Given the description of an element on the screen output the (x, y) to click on. 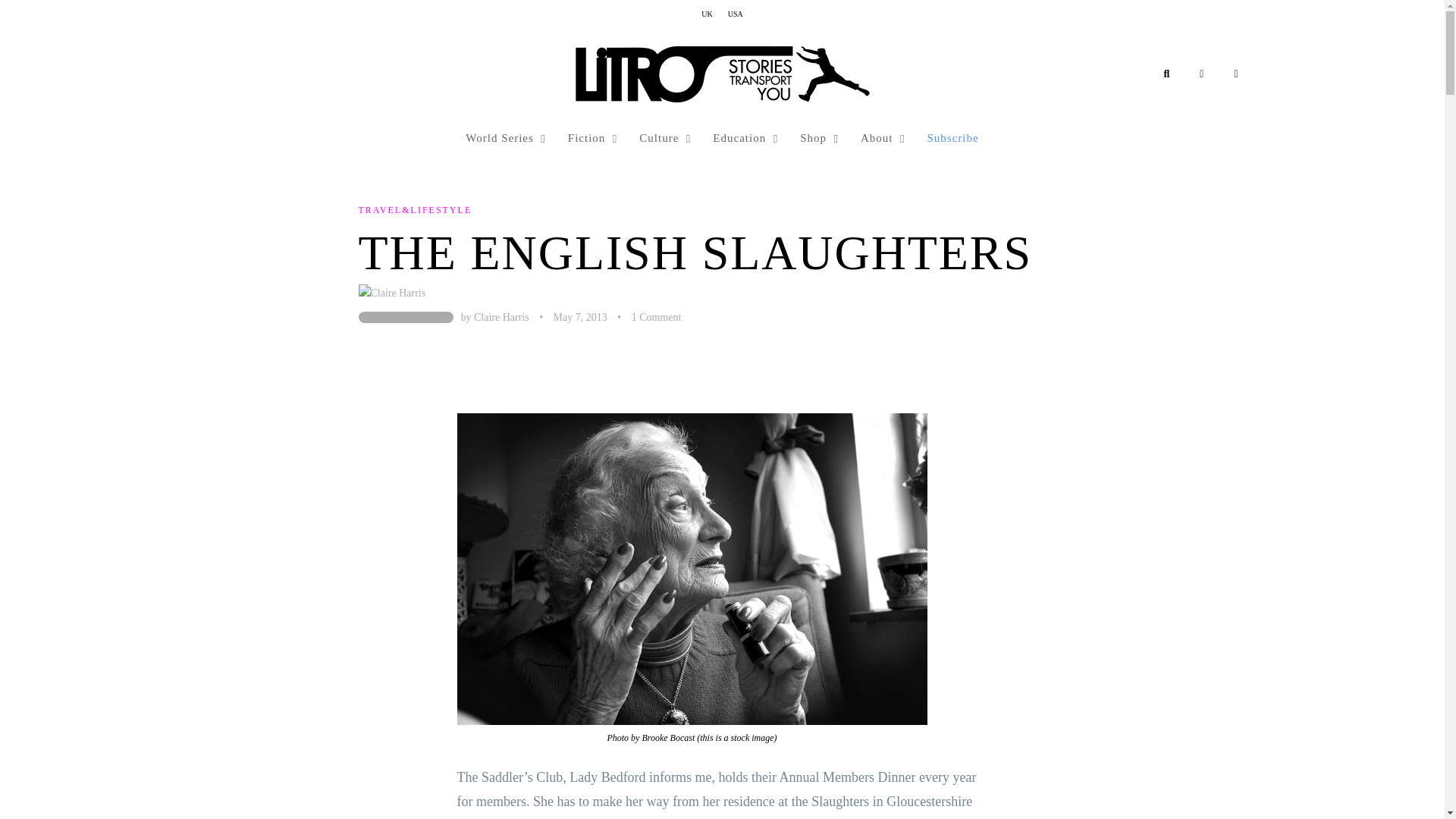
View all posts by Claire Harris (501, 317)
Litro Magazine USA (722, 74)
USA (735, 13)
World Series (501, 138)
UK (706, 13)
2:07 PM (580, 317)
Fiction (588, 138)
Posts by Claire Harris (405, 317)
